Given the description of an element on the screen output the (x, y) to click on. 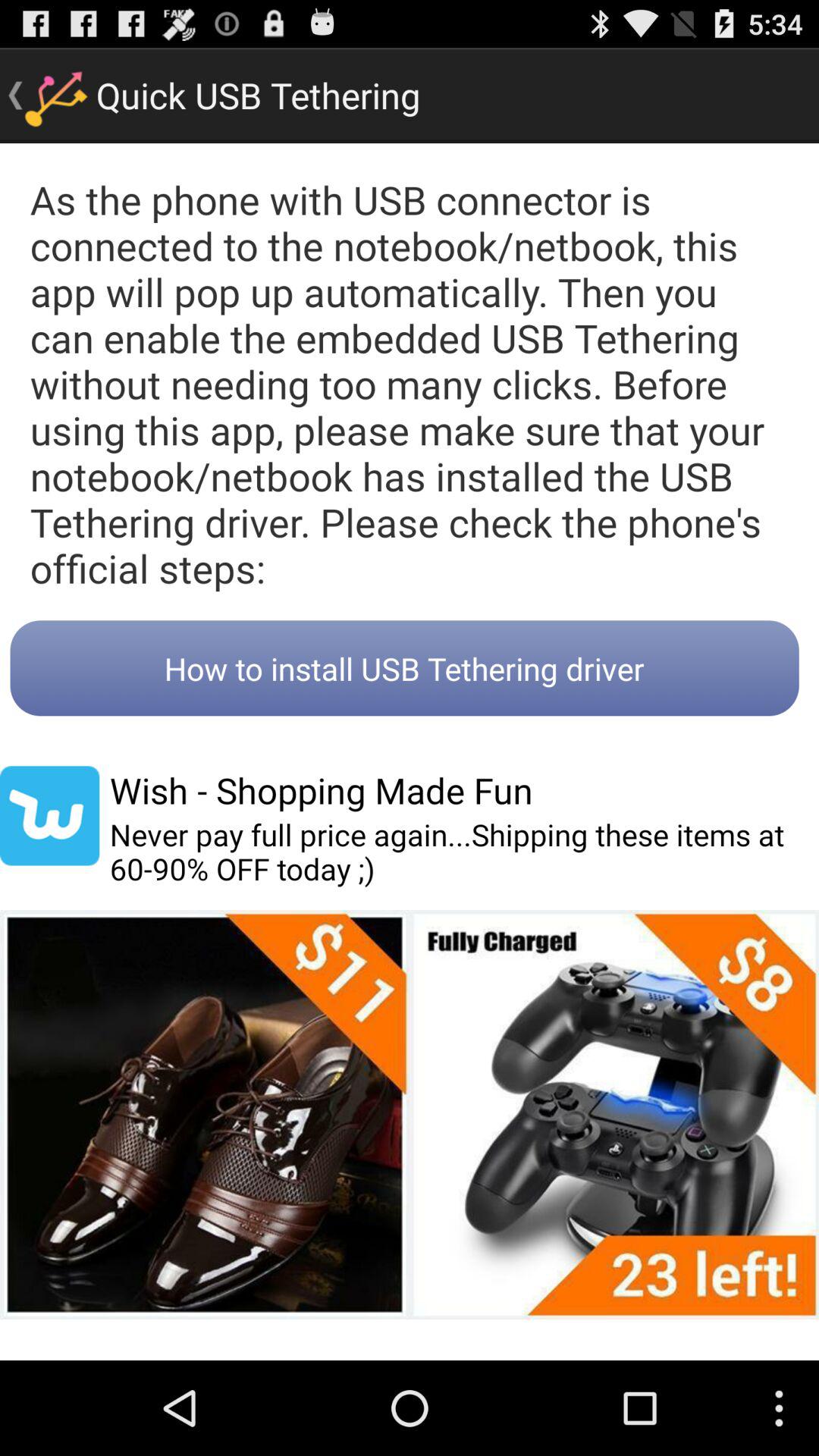
choose the item on the left (49, 815)
